Given the description of an element on the screen output the (x, y) to click on. 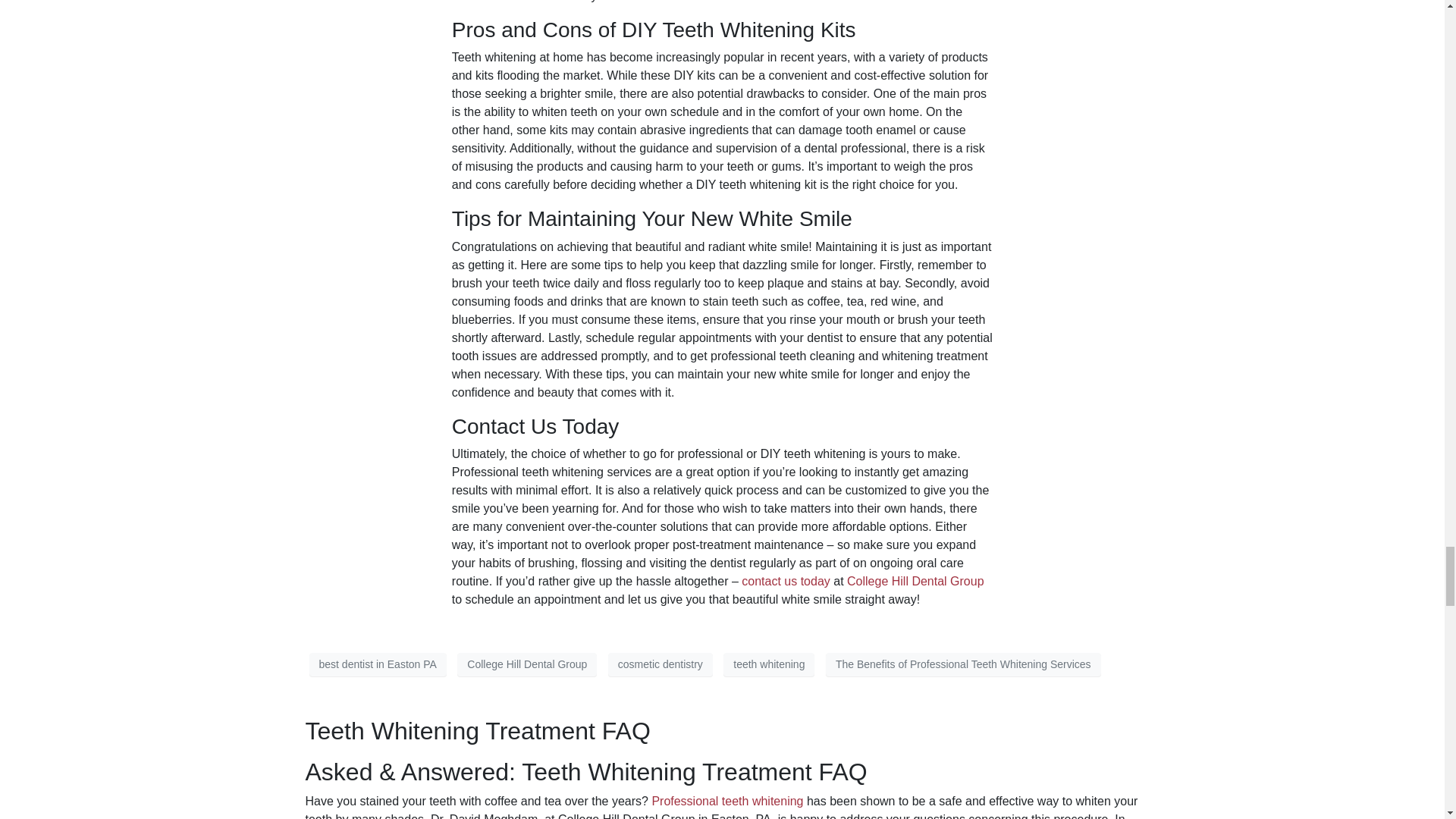
Teeth Whitening Treatment FAQ (476, 730)
